Given the description of an element on the screen output the (x, y) to click on. 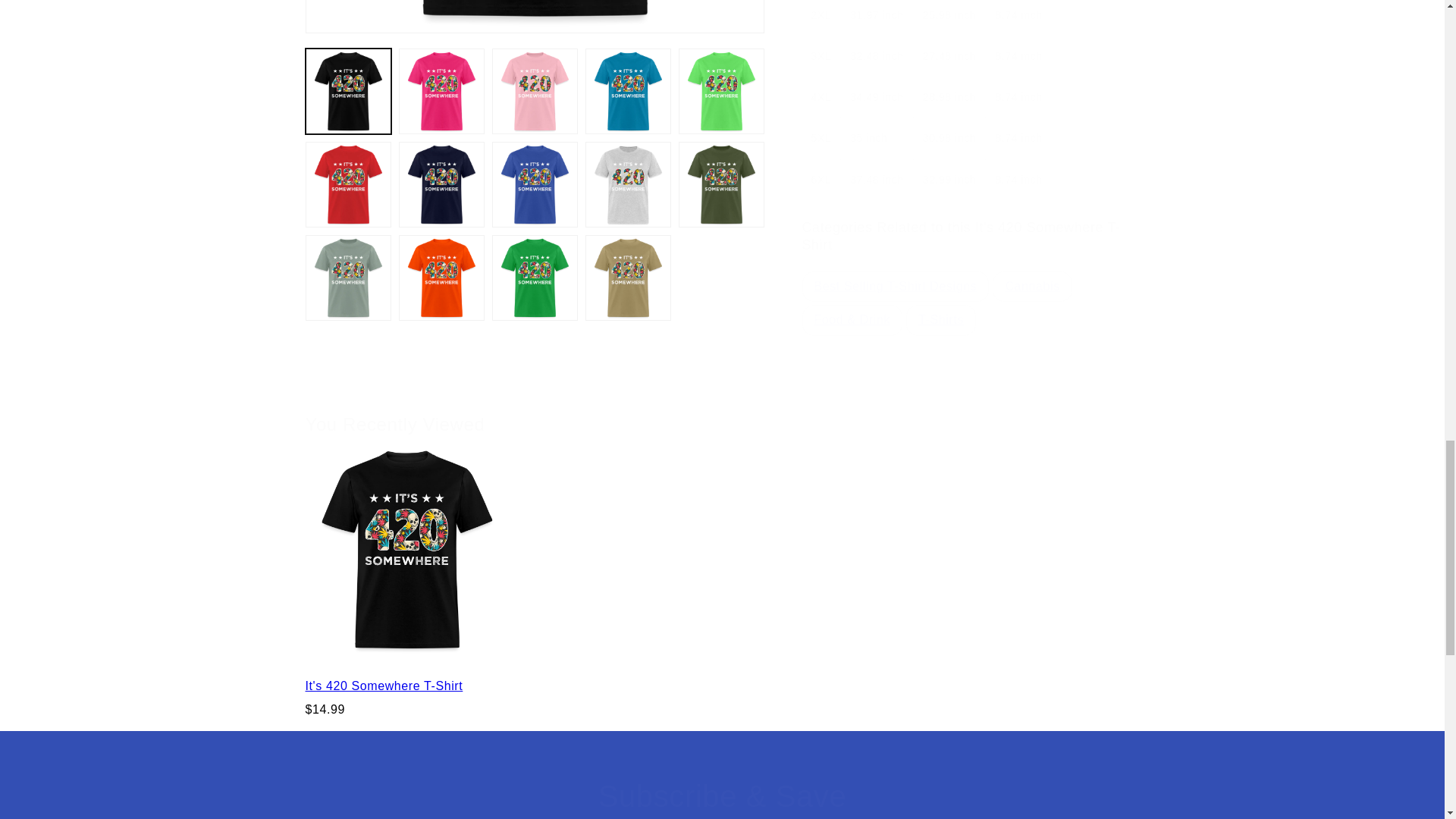
Best Selling T-Shirt Designs (894, 274)
T-Shirts (940, 308)
Cannabis (1031, 274)
You Recently Viewed (721, 404)
